Given the description of an element on the screen output the (x, y) to click on. 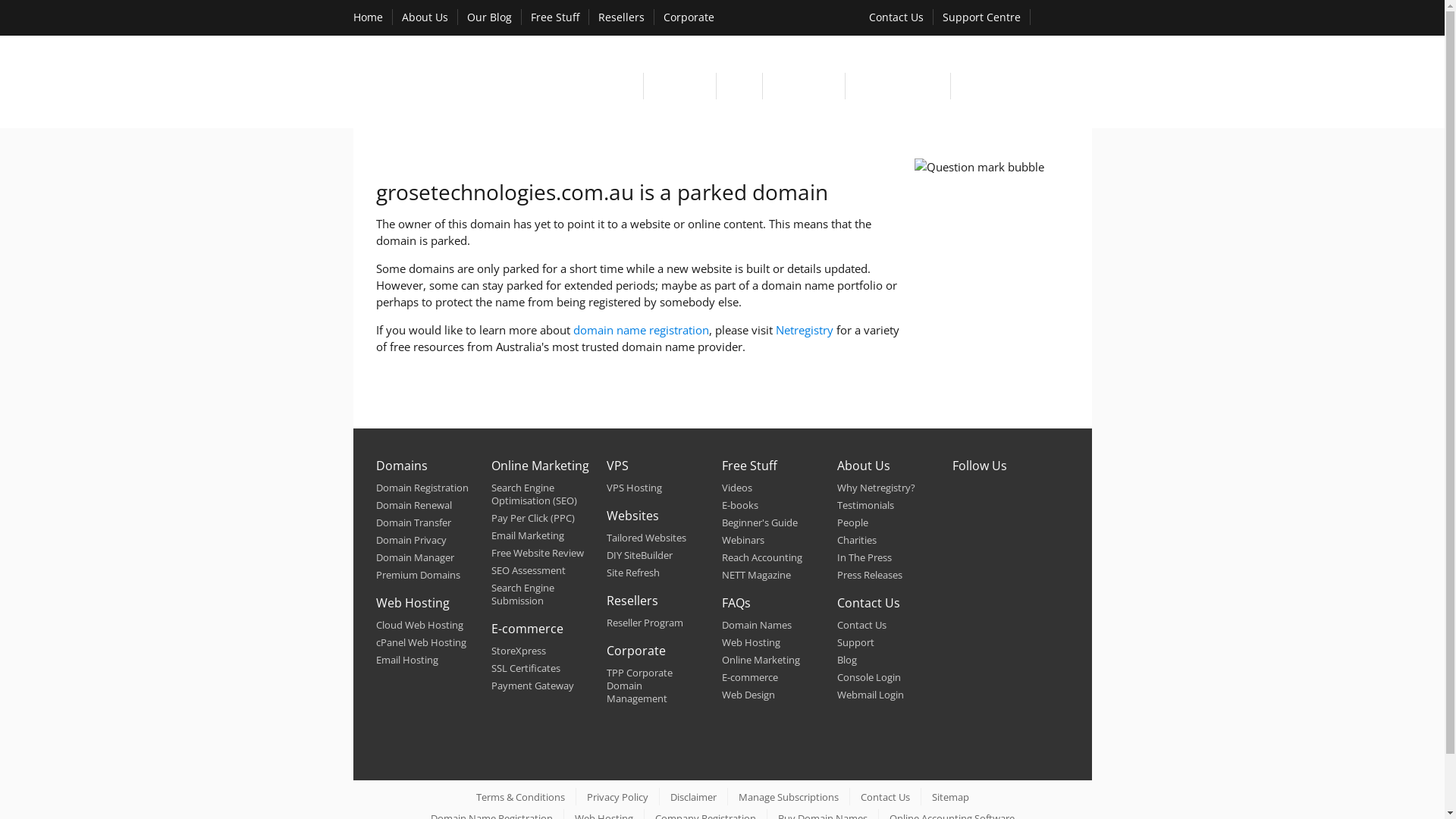
Free Stuff Element type: text (749, 465)
Home Element type: text (367, 16)
Disclaimer Element type: text (693, 796)
Support Element type: text (855, 642)
Netregistry Element type: text (803, 329)
Site Refresh Element type: text (632, 572)
Contact Us Element type: text (861, 624)
Reseller Program Element type: text (644, 622)
Search Engine Optimisation (SEO) Element type: text (534, 493)
Web Hosting Element type: text (412, 602)
About Us Element type: text (424, 16)
Tailored Websites Element type: text (646, 537)
Search Engine Submission Element type: text (522, 593)
Press Releases Element type: text (869, 574)
Terms & Conditions Element type: text (520, 796)
YouTube Element type: text (966, 528)
Domain Renewal Element type: text (413, 504)
Domains Element type: text (602, 85)
Premium Domains Element type: text (418, 574)
TPP Corporate Domain Management Element type: text (639, 685)
E-commerce Element type: text (897, 85)
E-commerce Element type: text (749, 677)
Webmail Login Element type: text (870, 694)
Blog RSS Element type: text (998, 528)
Twitter Element type: text (966, 495)
SSL Certificates Element type: text (525, 667)
Online Marketing Element type: text (1021, 85)
Free Stuff Element type: text (554, 16)
LinkedIn Element type: text (1031, 495)
Websites Element type: text (632, 515)
Resellers Element type: text (620, 16)
DIY SiteBuilder Element type: text (639, 554)
Email Hosting Element type: text (407, 659)
Our Blog Element type: text (489, 16)
Resellers Element type: text (632, 600)
VPS Element type: text (738, 85)
Contact Us Element type: text (884, 796)
Blog Element type: text (846, 659)
Online Marketing Element type: text (760, 659)
Free Website Review Element type: text (537, 552)
In The Press Element type: text (864, 557)
Support Centre Element type: text (980, 16)
Login Element type: text (1064, 18)
Testimonials Element type: text (865, 504)
Online Marketing Element type: text (540, 465)
Cloud Web Hosting Element type: text (419, 624)
Contact Us Element type: text (868, 602)
Corporate Element type: text (635, 650)
Corporate Element type: text (687, 16)
Payment Gateway Element type: text (532, 685)
VPS Hosting Element type: text (634, 487)
Pay Per Click (PPC) Element type: text (532, 517)
Domain Manager Element type: text (415, 557)
Facebook Element type: text (998, 495)
Webinars Element type: text (742, 539)
Manage Subscriptions Element type: text (788, 796)
Contact Us Element type: text (896, 16)
Reach Accounting Element type: text (761, 557)
Web Hosting Element type: text (750, 642)
Privacy Policy Element type: text (617, 796)
cPanel Web Hosting Element type: text (421, 642)
VPS Element type: text (617, 465)
Videos Element type: text (736, 487)
Beginner's Guide Element type: text (759, 522)
People Element type: text (852, 522)
Console Login Element type: text (868, 677)
Sitemap Element type: text (949, 796)
Websites Element type: text (803, 85)
Domain Privacy Element type: text (411, 539)
NETT Magazine Element type: text (755, 574)
Domain Registration Element type: text (422, 487)
+1 Element type: hover (1031, 523)
Charities Element type: text (856, 539)
About Us Element type: text (863, 465)
Web Design Element type: text (748, 694)
FAQs Element type: text (735, 602)
StoreXpress Element type: text (518, 650)
E-commerce Element type: text (527, 628)
Email Marketing Element type: text (527, 535)
SEO Assessment Element type: text (528, 570)
E-books Element type: text (739, 504)
Domain Names Element type: text (756, 624)
Domains Element type: text (401, 465)
Why Netregistry? Element type: text (876, 487)
Domain Transfer Element type: text (413, 522)
domain name registration Element type: text (641, 329)
Hosting Element type: text (679, 85)
